Given the description of an element on the screen output the (x, y) to click on. 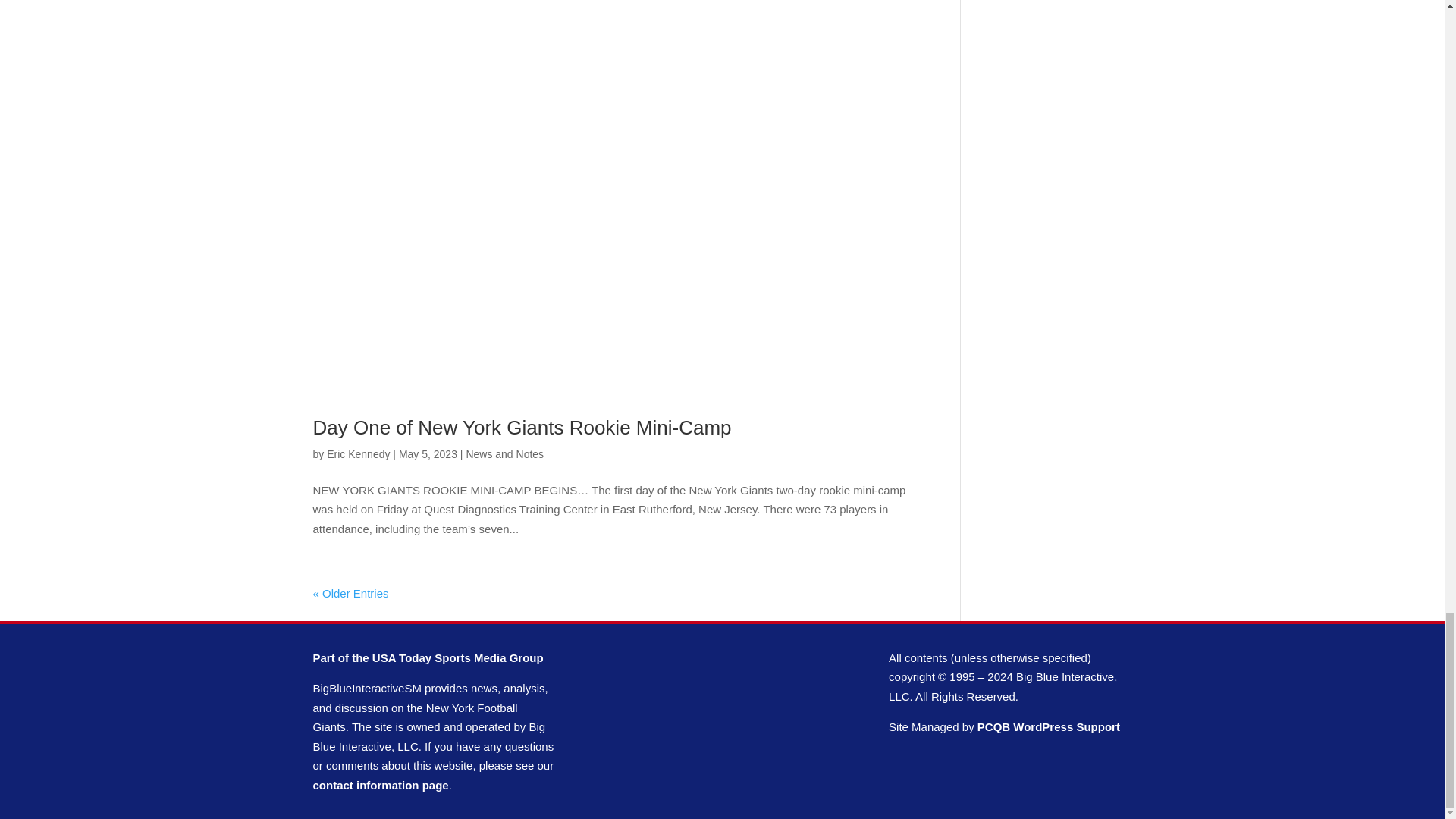
Posts by Eric Kennedy (358, 453)
